Given the description of an element on the screen output the (x, y) to click on. 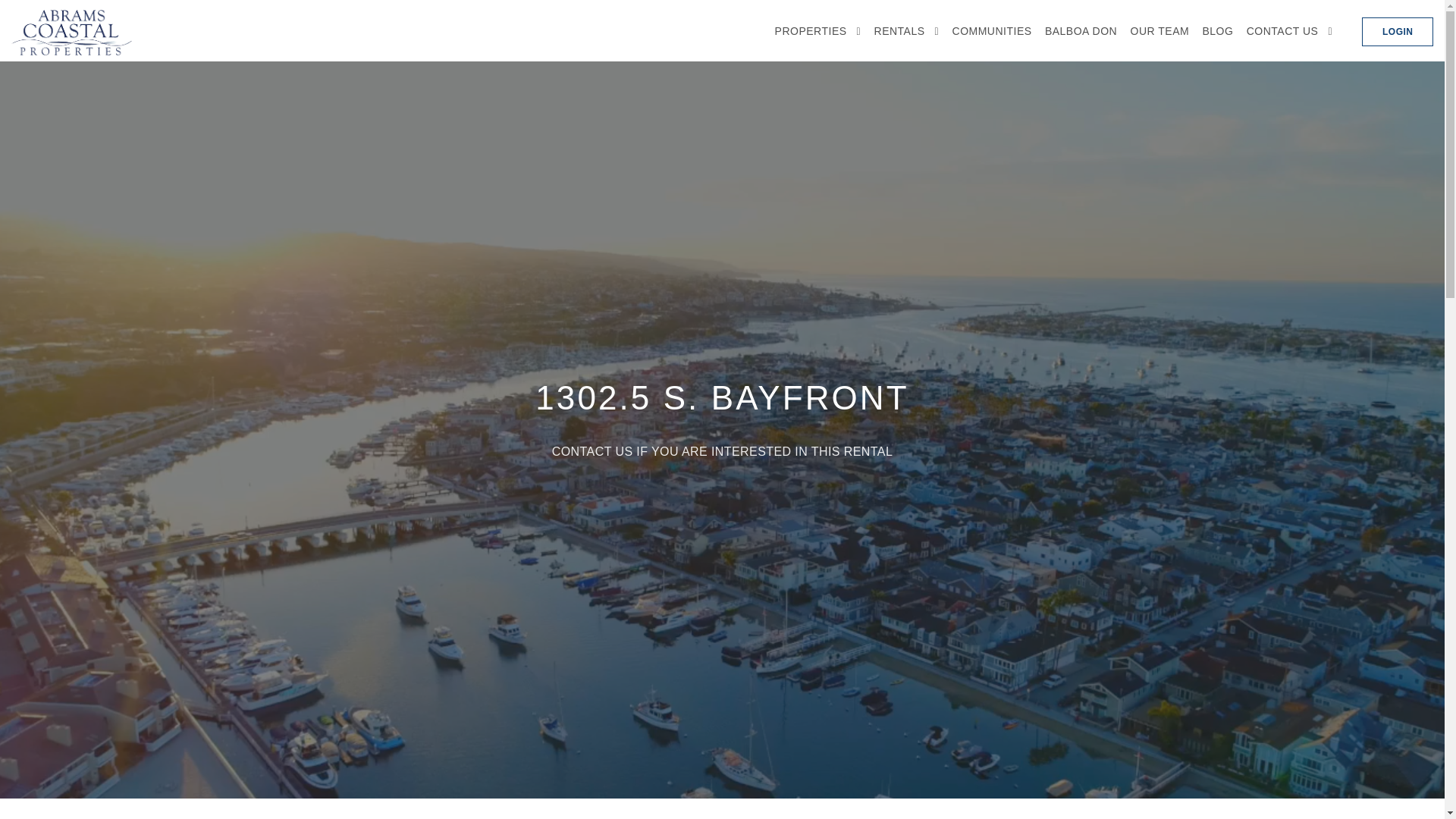
CONTACT US (1289, 30)
PROPERTIES (817, 30)
RENTALS (907, 30)
BALBOA DON (1080, 30)
OUR TEAM (1159, 30)
COMMUNITIES (992, 30)
BLOG (1217, 30)
LOGIN (1396, 31)
